Given the description of an element on the screen output the (x, y) to click on. 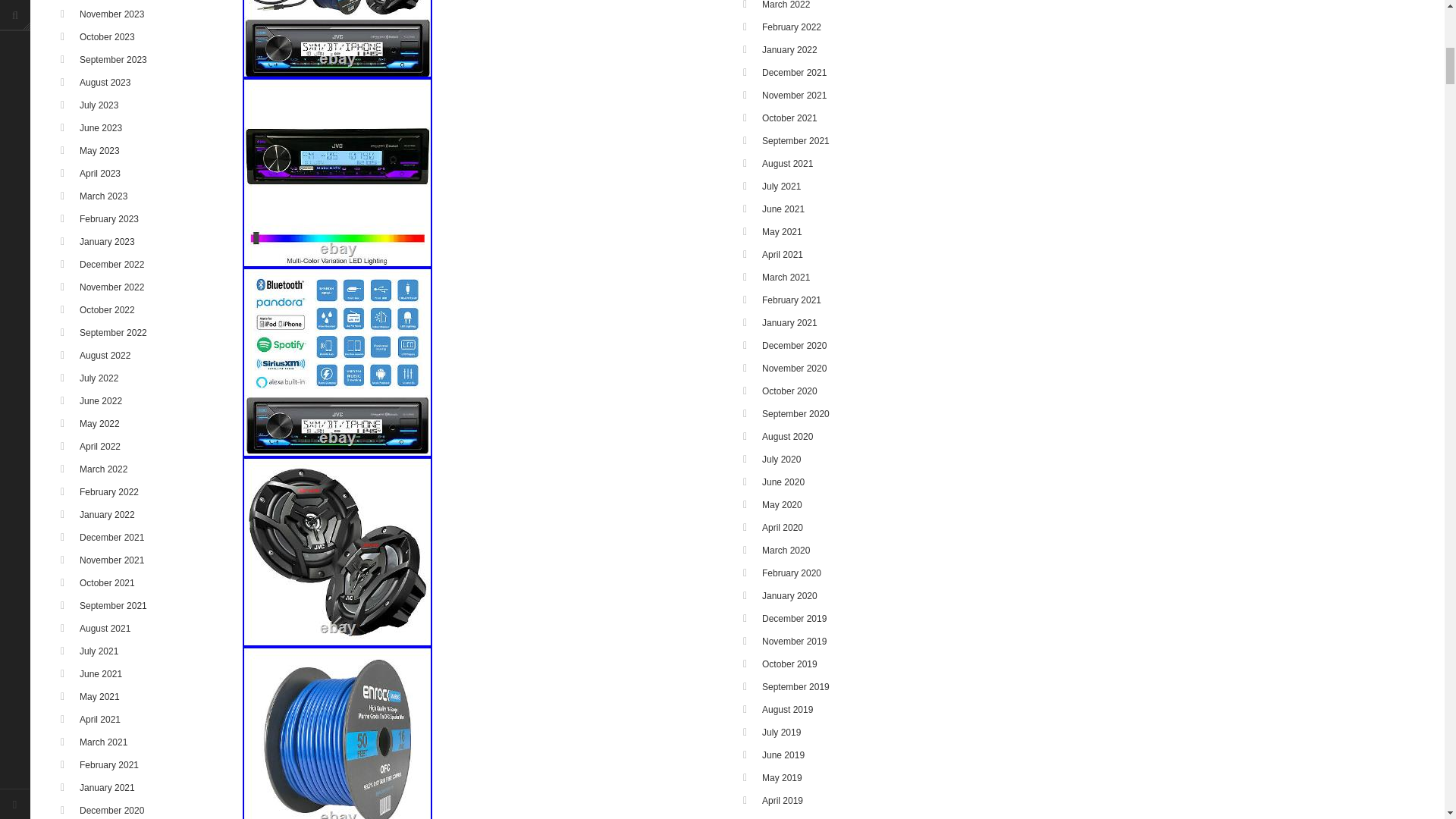
May 2023 (99, 150)
July 2022 (98, 378)
December 2021 (112, 537)
October 2023 (107, 36)
June 2023 (101, 127)
March 2022 (104, 469)
November 2022 (112, 286)
May 2022 (99, 423)
August 2023 (105, 81)
September 2022 (113, 332)
October 2022 (107, 309)
January 2022 (107, 514)
April 2022 (100, 446)
July 2023 (98, 104)
August 2022 (105, 355)
